Given the description of an element on the screen output the (x, y) to click on. 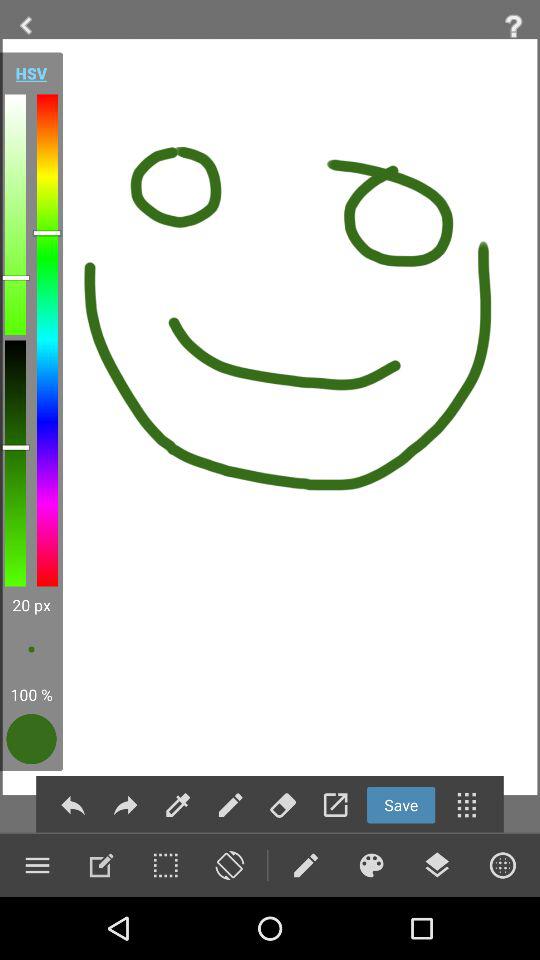
go to next (125, 804)
